Given the description of an element on the screen output the (x, y) to click on. 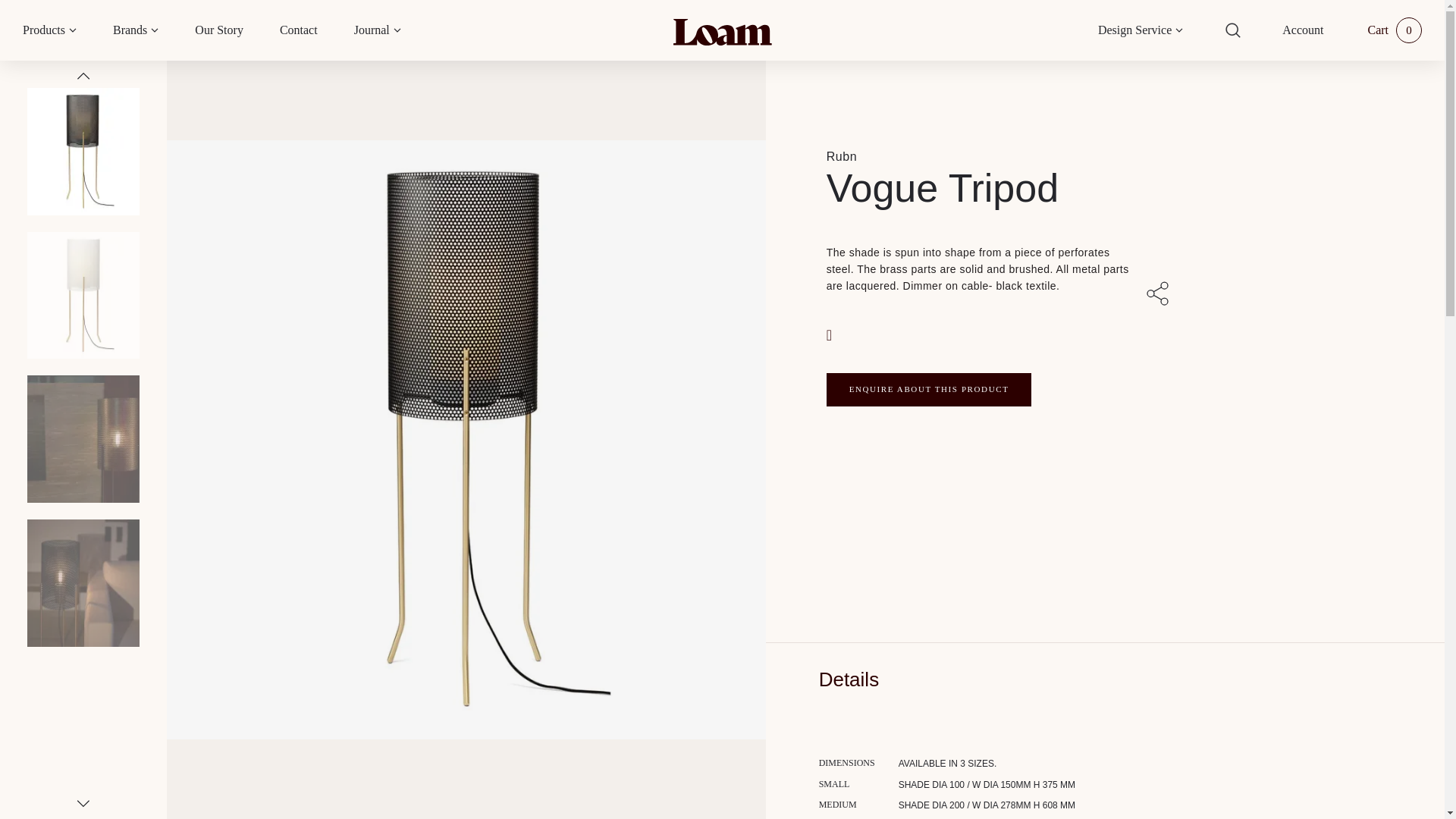
Toggle Menu (72, 29)
